Given the description of an element on the screen output the (x, y) to click on. 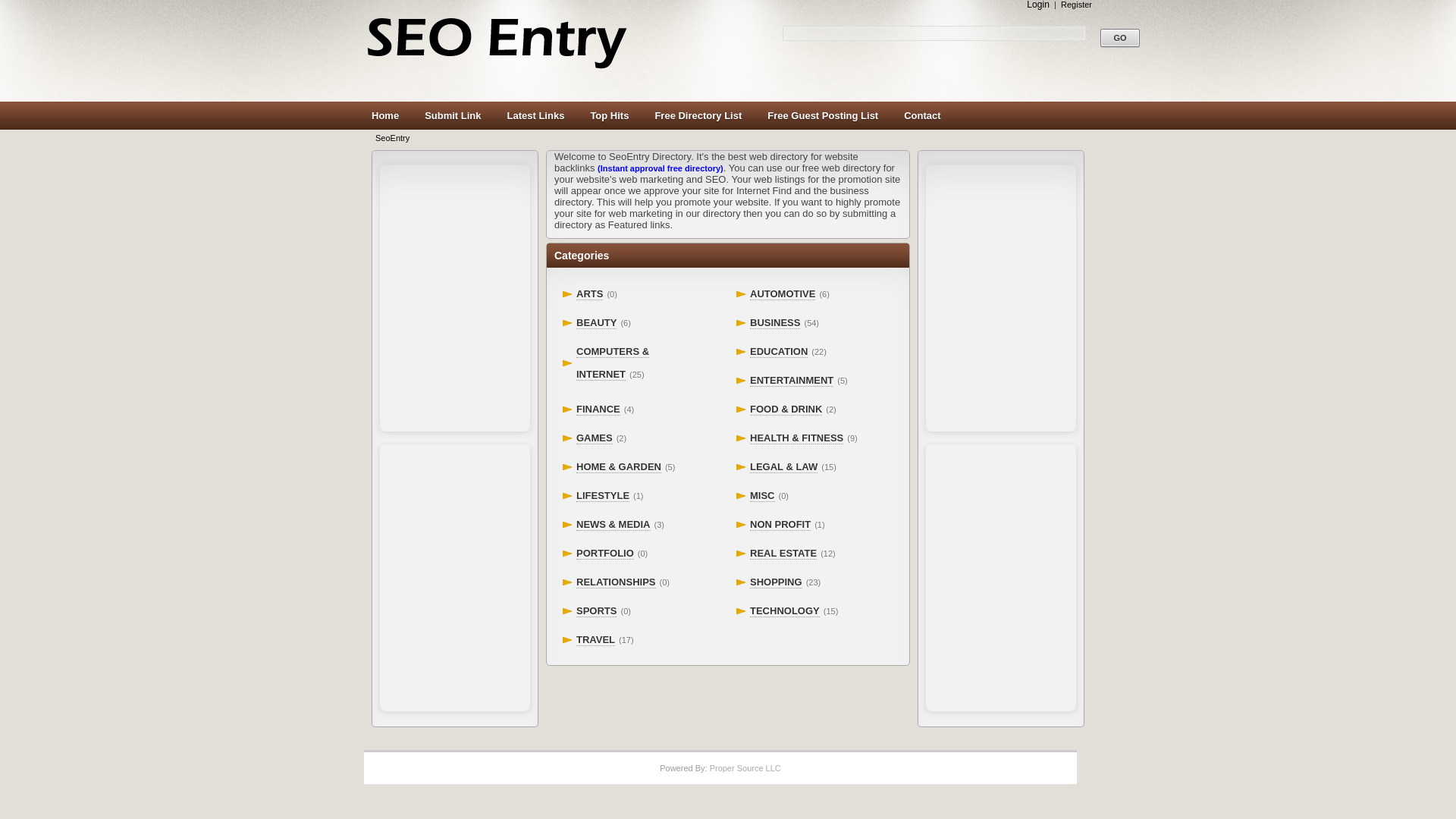
TRAVEL (595, 639)
RELATIONSHIPS (616, 582)
Business (774, 322)
BUSINESS (774, 322)
Latest Links (535, 116)
ARTS (589, 294)
Contact (921, 116)
Home (384, 116)
Non Profit (779, 524)
Instant approval free directory (659, 167)
Games (594, 438)
Entertainment (790, 380)
TECHNOLOGY (784, 611)
PORTFOLIO (604, 553)
EDUCATION (778, 351)
